Given the description of an element on the screen output the (x, y) to click on. 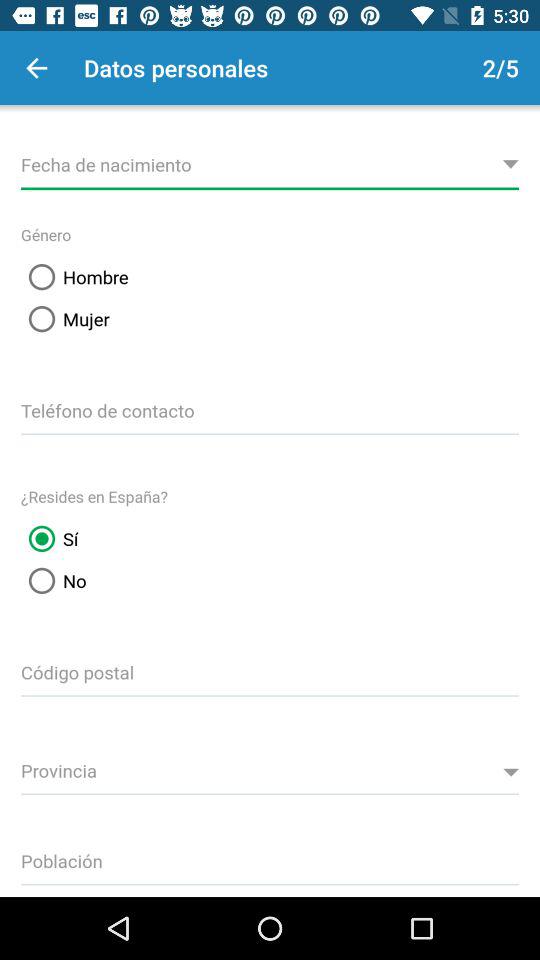
this search page in fecha de nacimiento (270, 162)
